Given the description of an element on the screen output the (x, y) to click on. 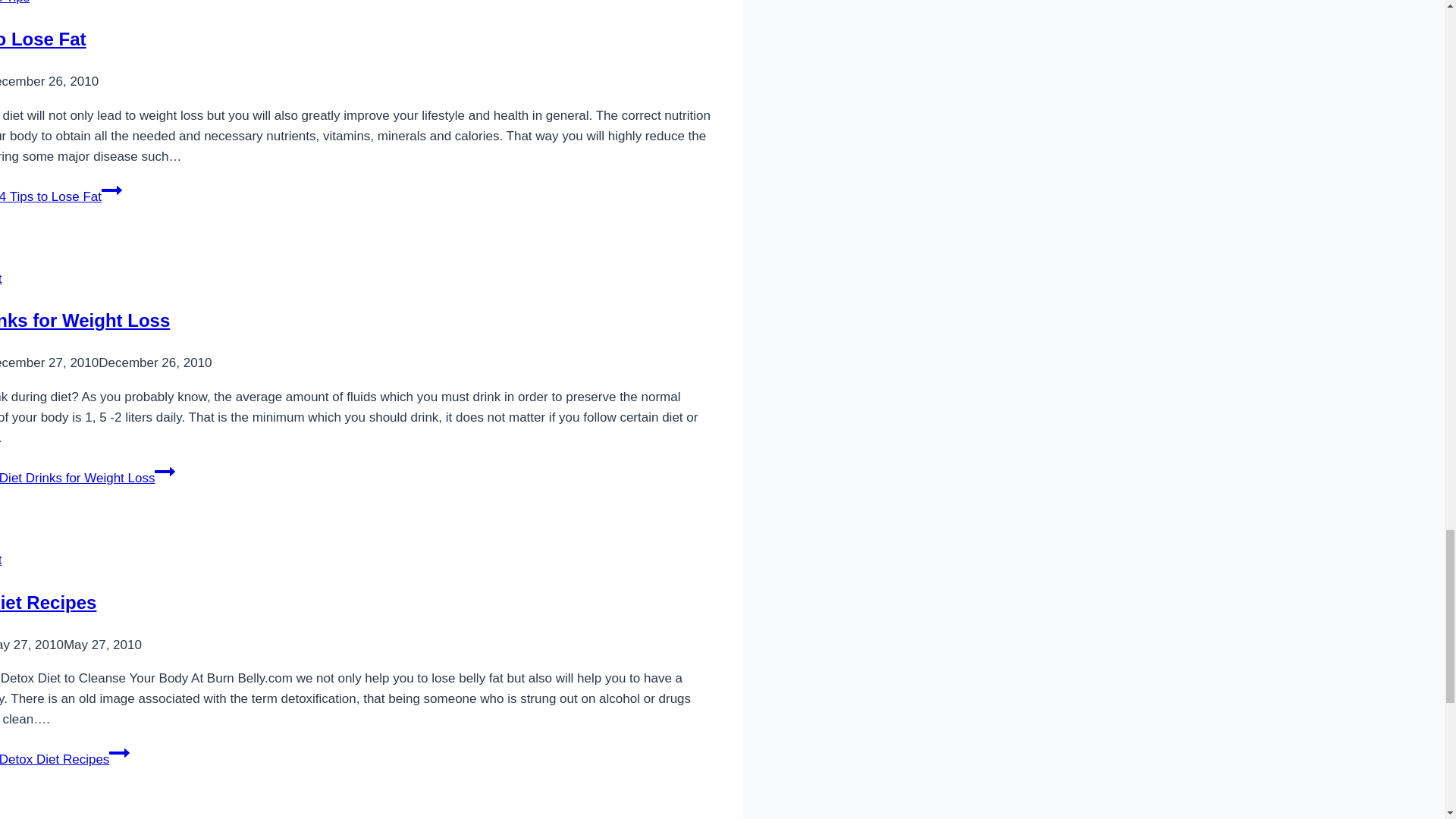
Weight Loss Tips (14, 2)
Detox Diet Recipes (48, 602)
Continue (119, 752)
Continue (111, 189)
Read More Detox Diet RecipesContinue (64, 759)
4 Tips to Lose Fat (42, 38)
Read More Diet Drinks for Weight LossContinue (87, 477)
Read More 4 Tips to Lose FatContinue (61, 196)
Diet Drinks for Weight Loss (85, 320)
Continue (164, 471)
